Given the description of an element on the screen output the (x, y) to click on. 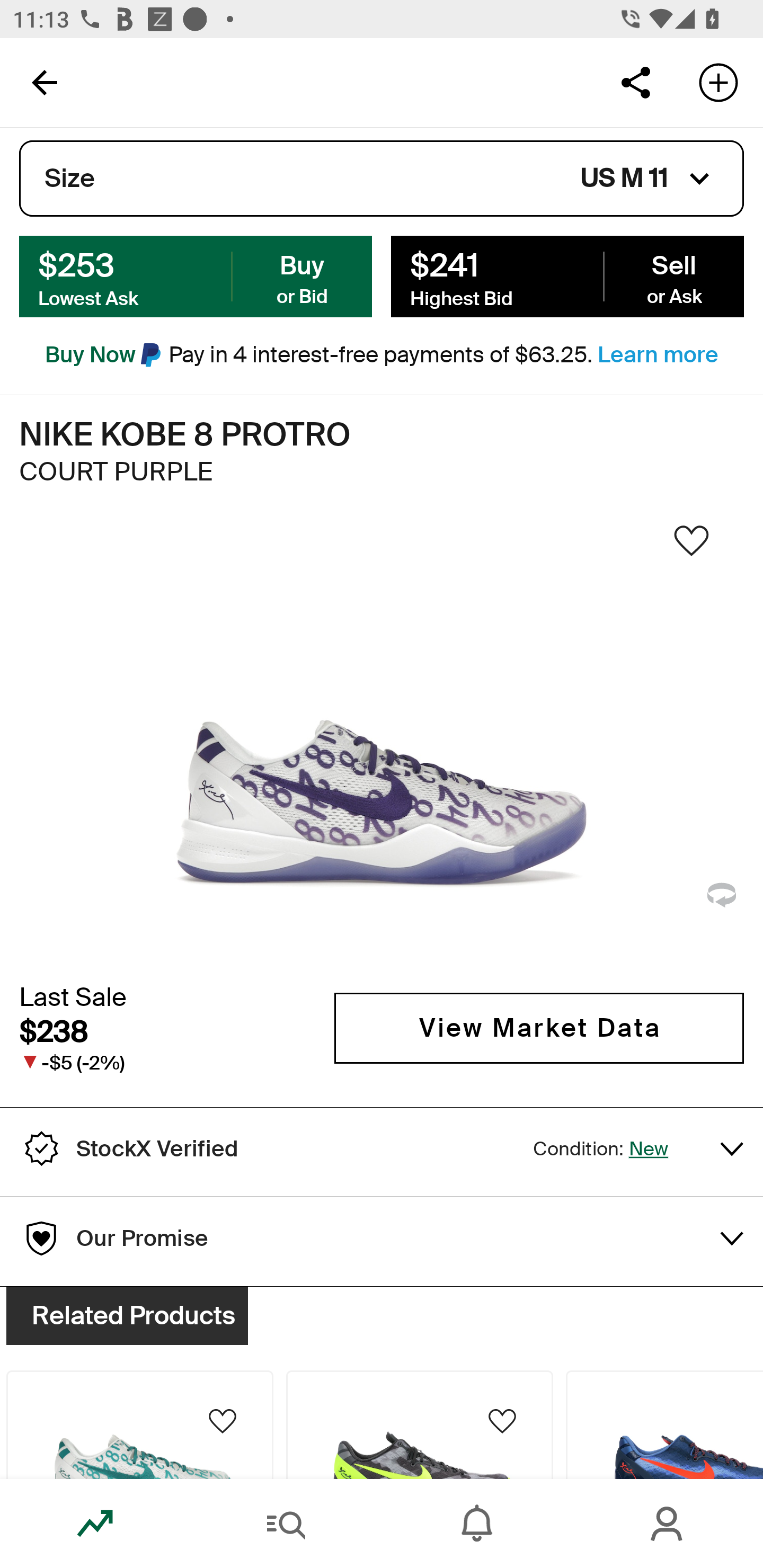
Share (635, 81)
Add (718, 81)
Size US M 11 (381, 178)
$253 Buy Lowest Ask or Bid (195, 275)
$241 Sell Highest Bid or Ask (566, 275)
Sneaker Image (381, 745)
View Market Data (538, 1027)
Search (285, 1523)
Inbox (476, 1523)
Account (667, 1523)
